Given the description of an element on the screen output the (x, y) to click on. 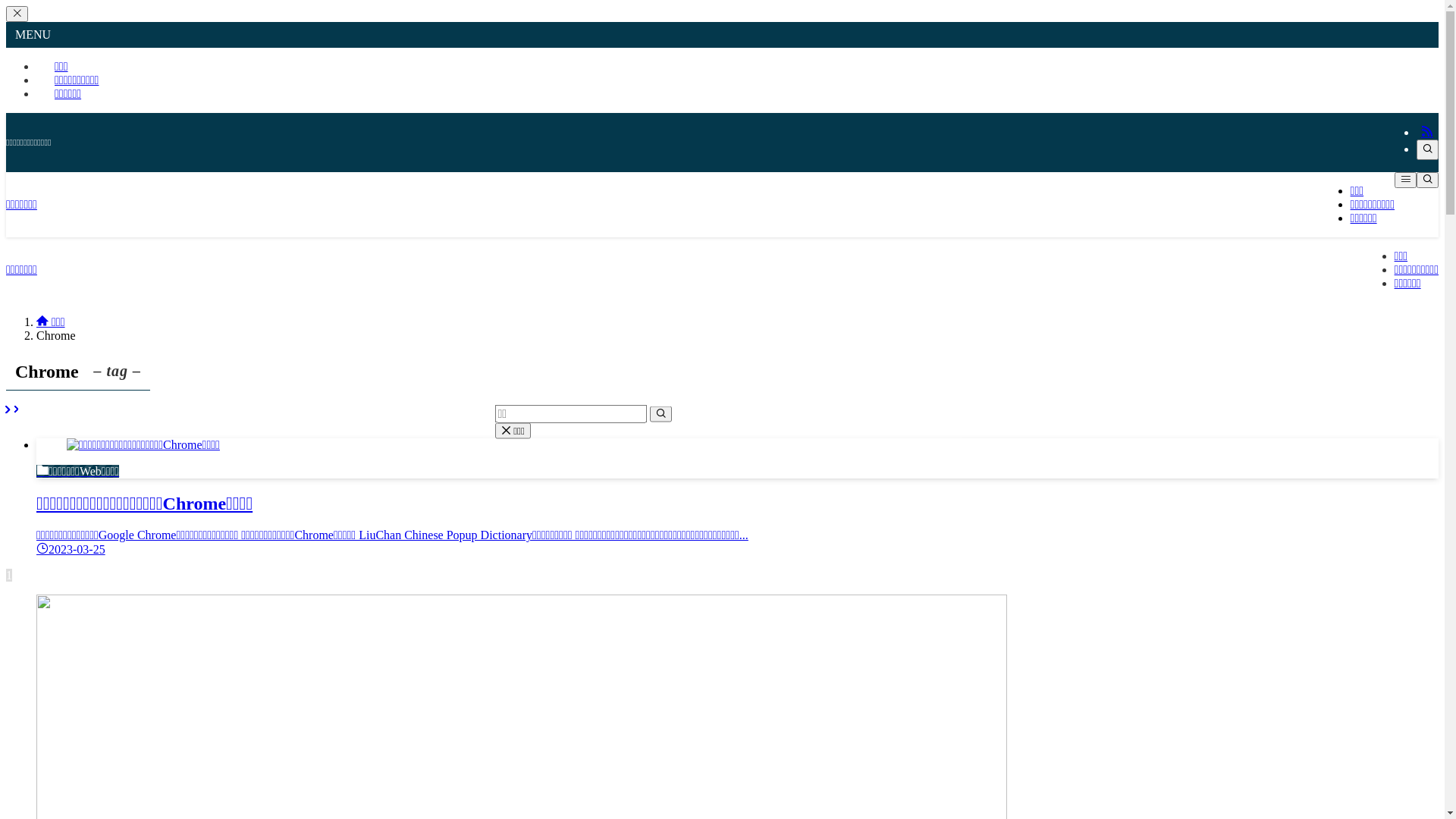
search Element type: text (660, 414)
